Given the description of an element on the screen output the (x, y) to click on. 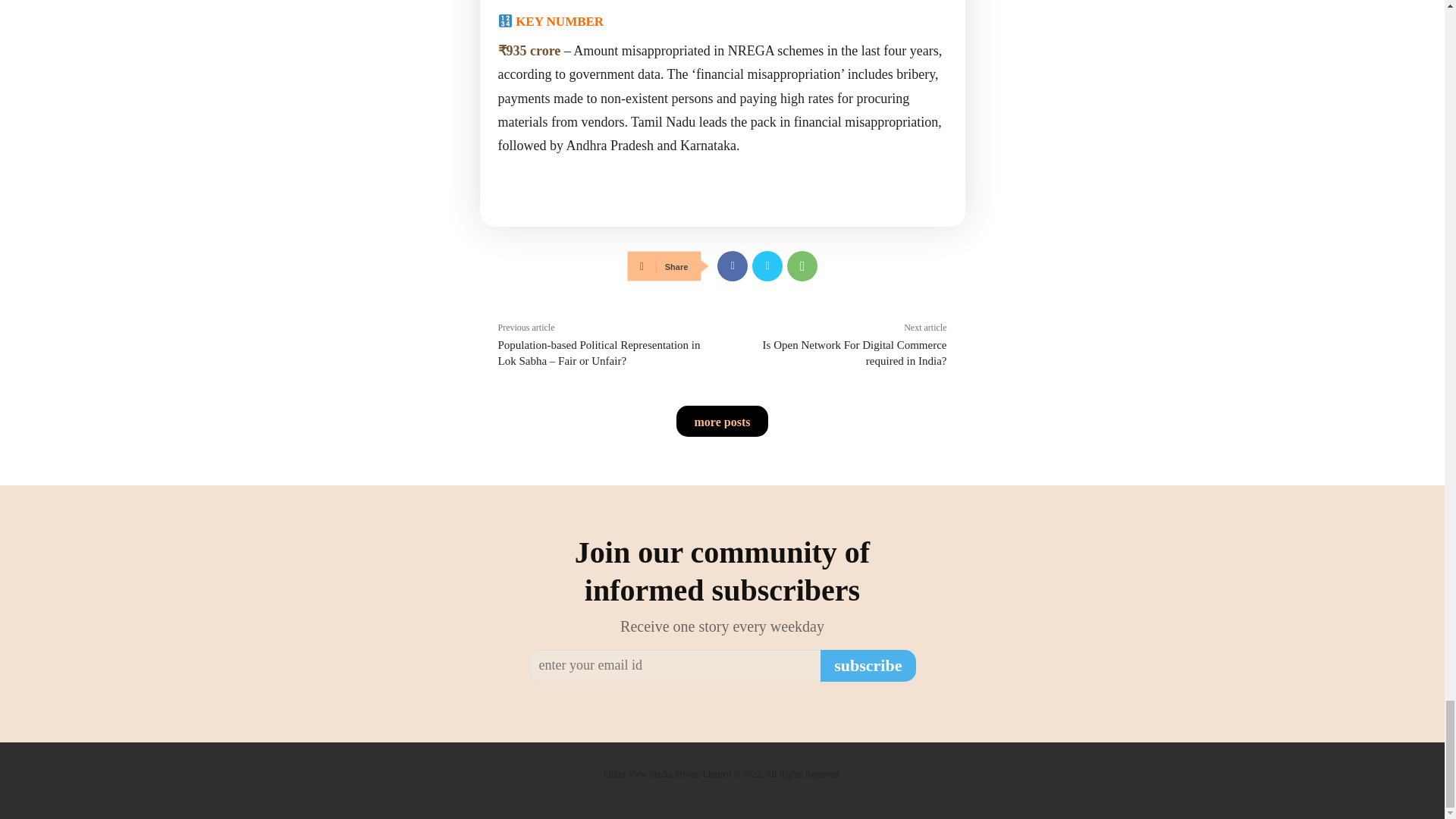
Is Open Network For Digital Commerce required in India? (854, 352)
more posts (722, 420)
Facebook (732, 265)
More Posts (722, 420)
WhatsApp (801, 265)
Twitter (767, 265)
subscribe (868, 665)
